Given the description of an element on the screen output the (x, y) to click on. 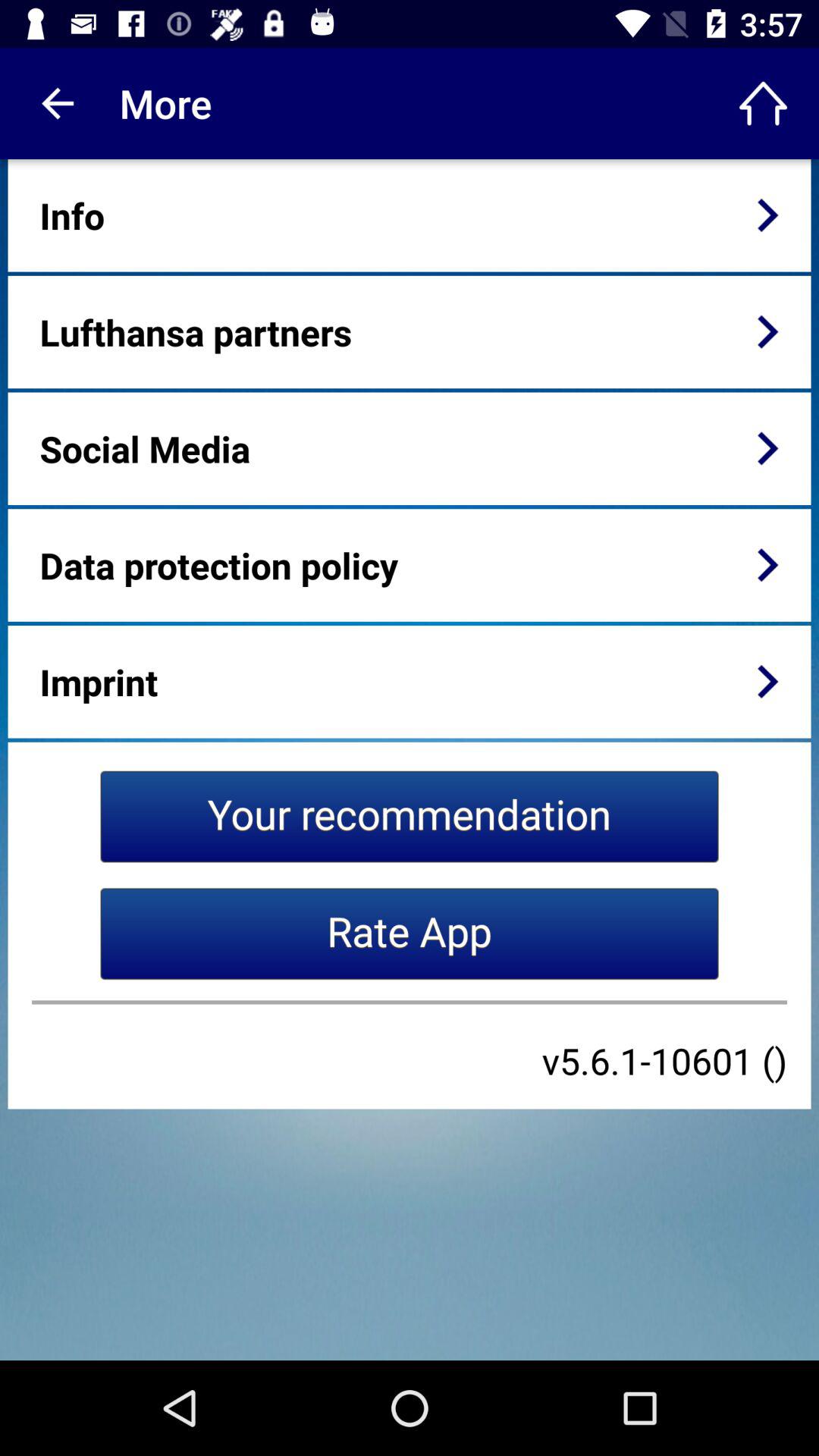
press the item above the lufthansa partners (71, 215)
